Given the description of an element on the screen output the (x, y) to click on. 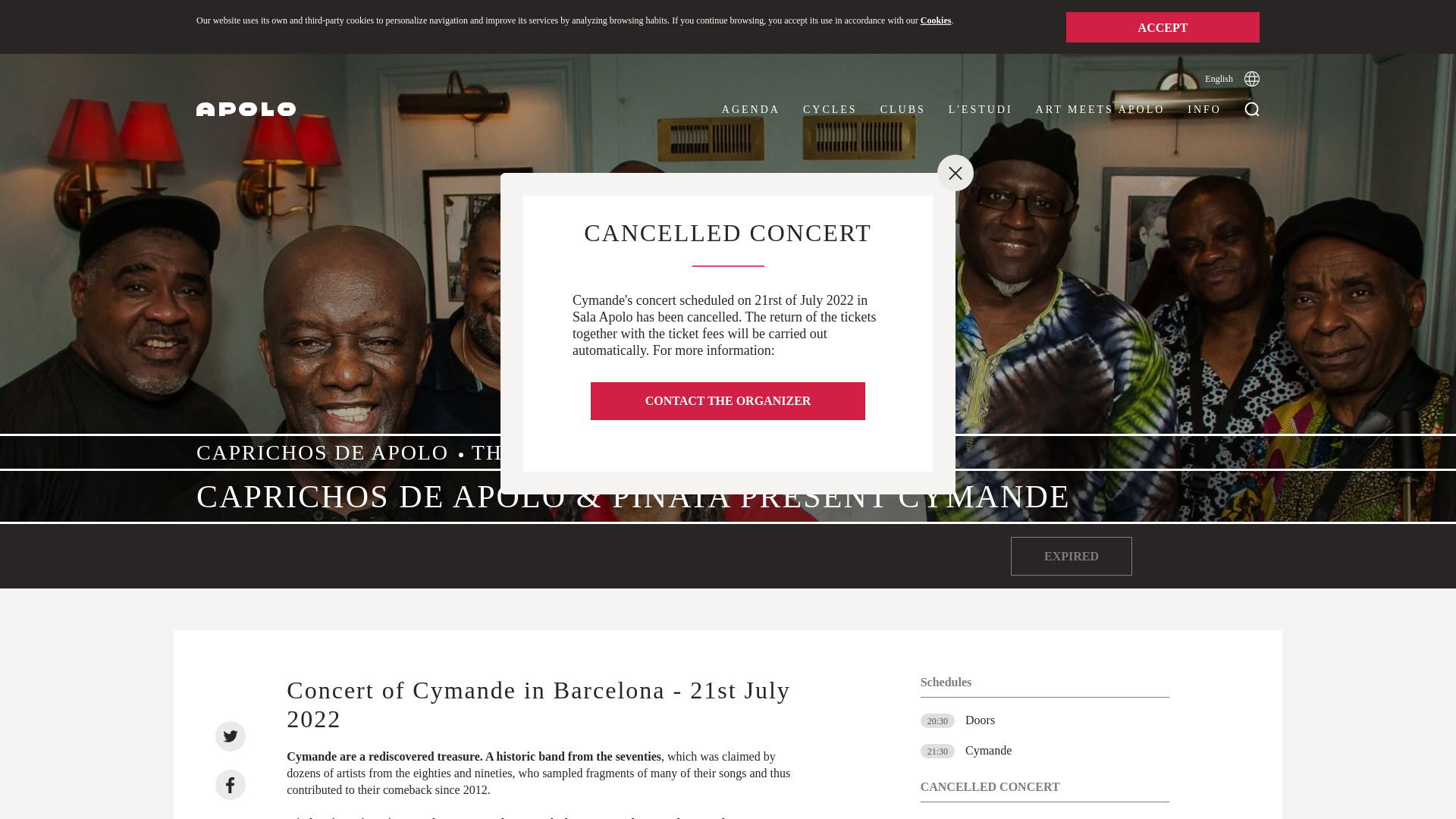
AGENDA (751, 109)
CLUBS (903, 109)
INFO (1204, 109)
Cookies (936, 20)
L'ESTUDI (981, 109)
CYCLES (830, 109)
ACCEPT (1162, 27)
ART MEETS APOLO (1100, 109)
EXPIRED (1071, 556)
